Given the description of an element on the screen output the (x, y) to click on. 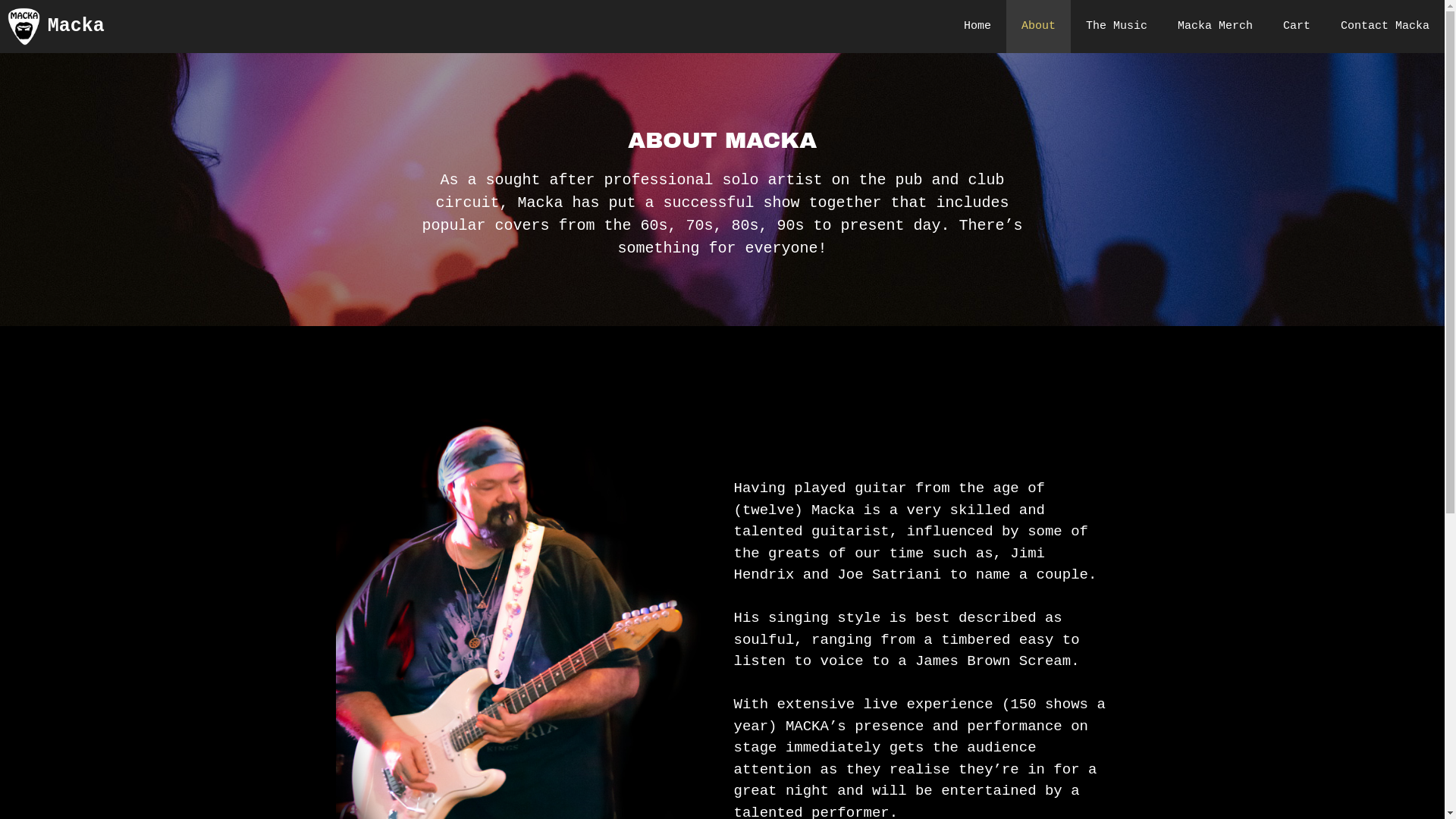
Macka Element type: text (75, 26)
Contact Macka Element type: text (1384, 26)
Macka Element type: hover (23, 26)
Macka Merch Element type: text (1214, 26)
About Element type: text (1038, 26)
Home Element type: text (977, 26)
The Music Element type: text (1116, 26)
Cart Element type: text (1296, 26)
